Given the description of an element on the screen output the (x, y) to click on. 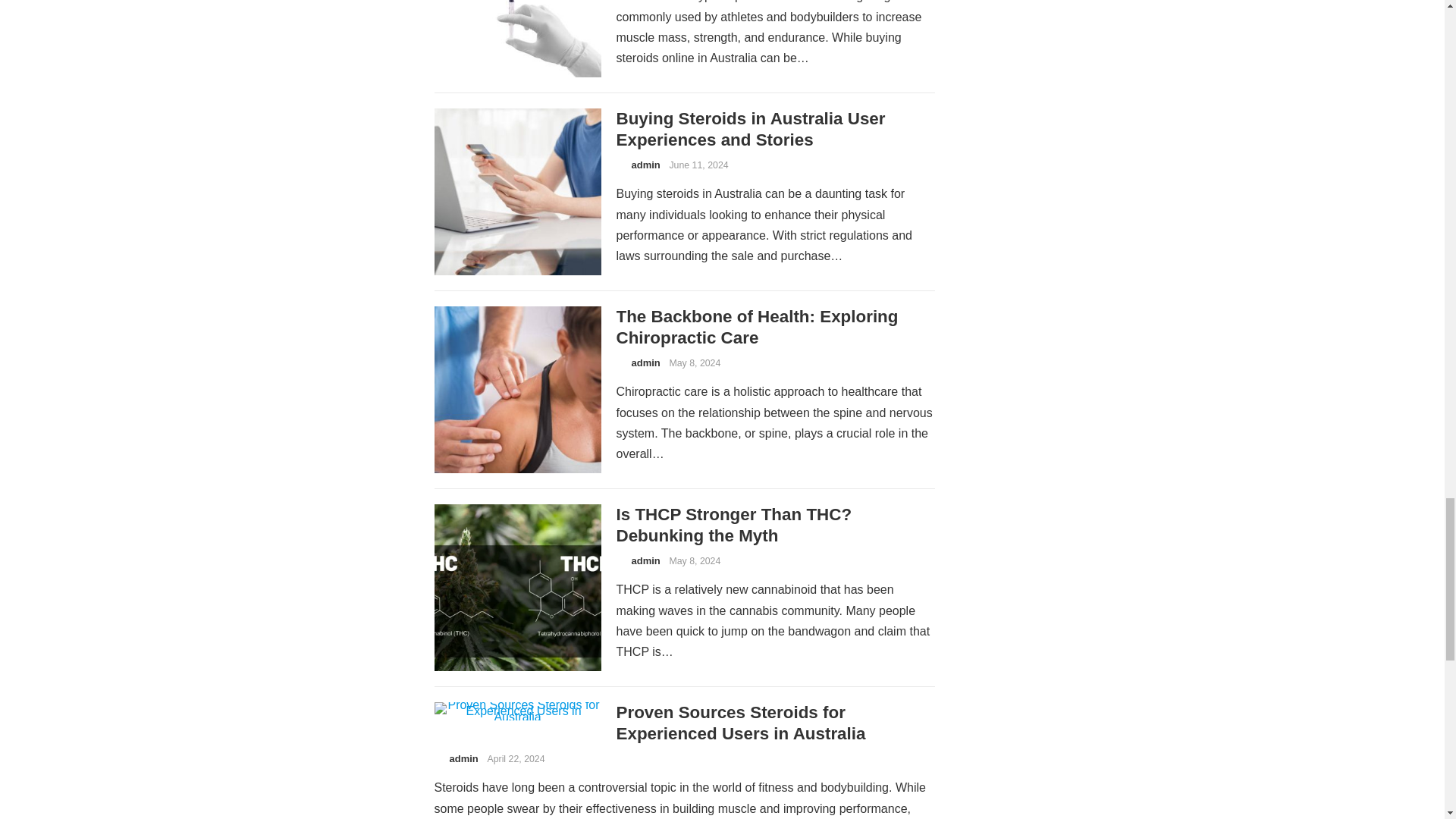
Posts by admin (644, 560)
Posts by admin (644, 164)
Posts by admin (644, 362)
Posts by admin (462, 758)
Buying Steroids in Australia User Experiences and Stories (750, 128)
